Given the description of an element on the screen output the (x, y) to click on. 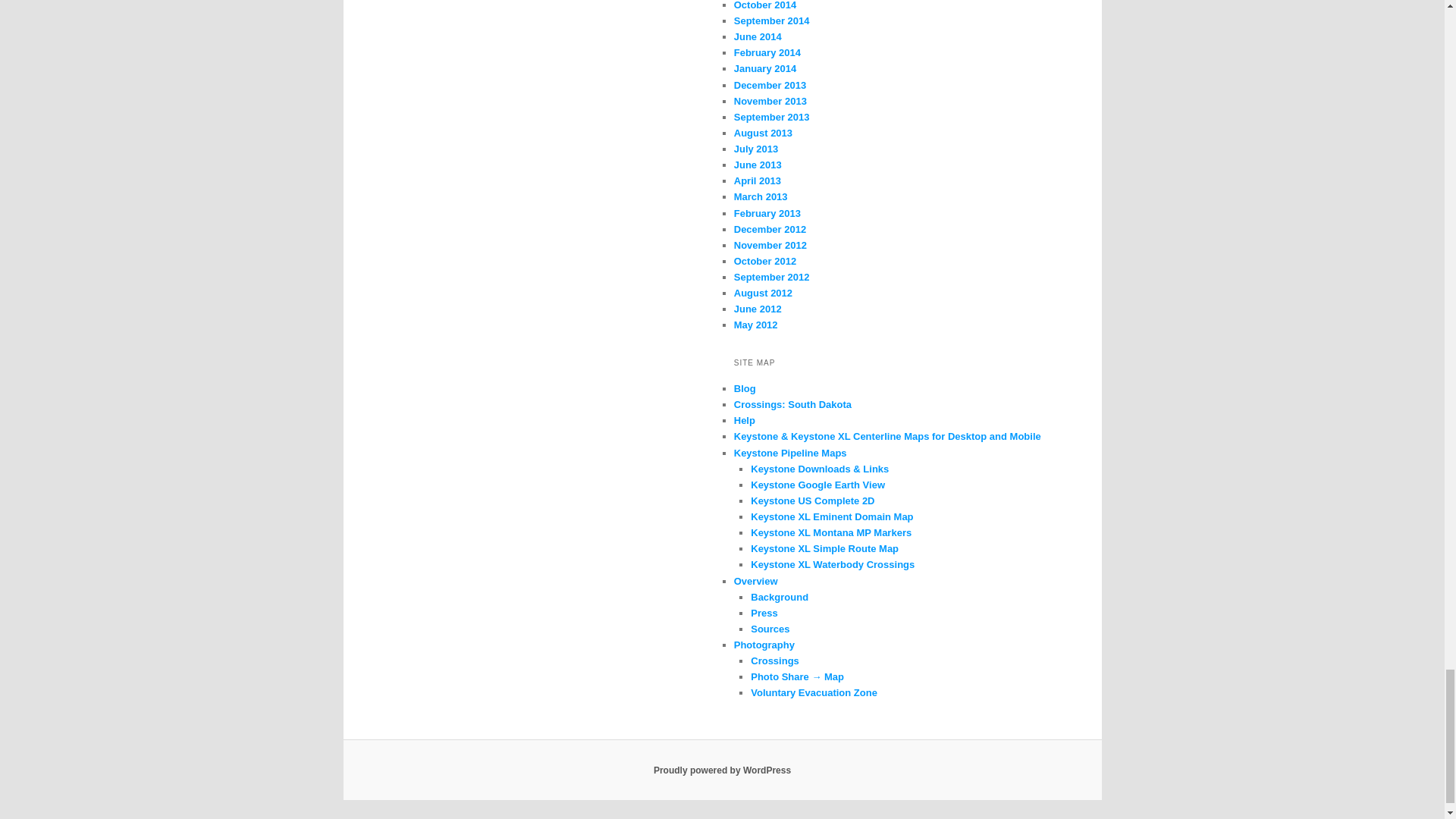
Semantic Personal Publishing Platform (721, 769)
